Given the description of an element on the screen output the (x, y) to click on. 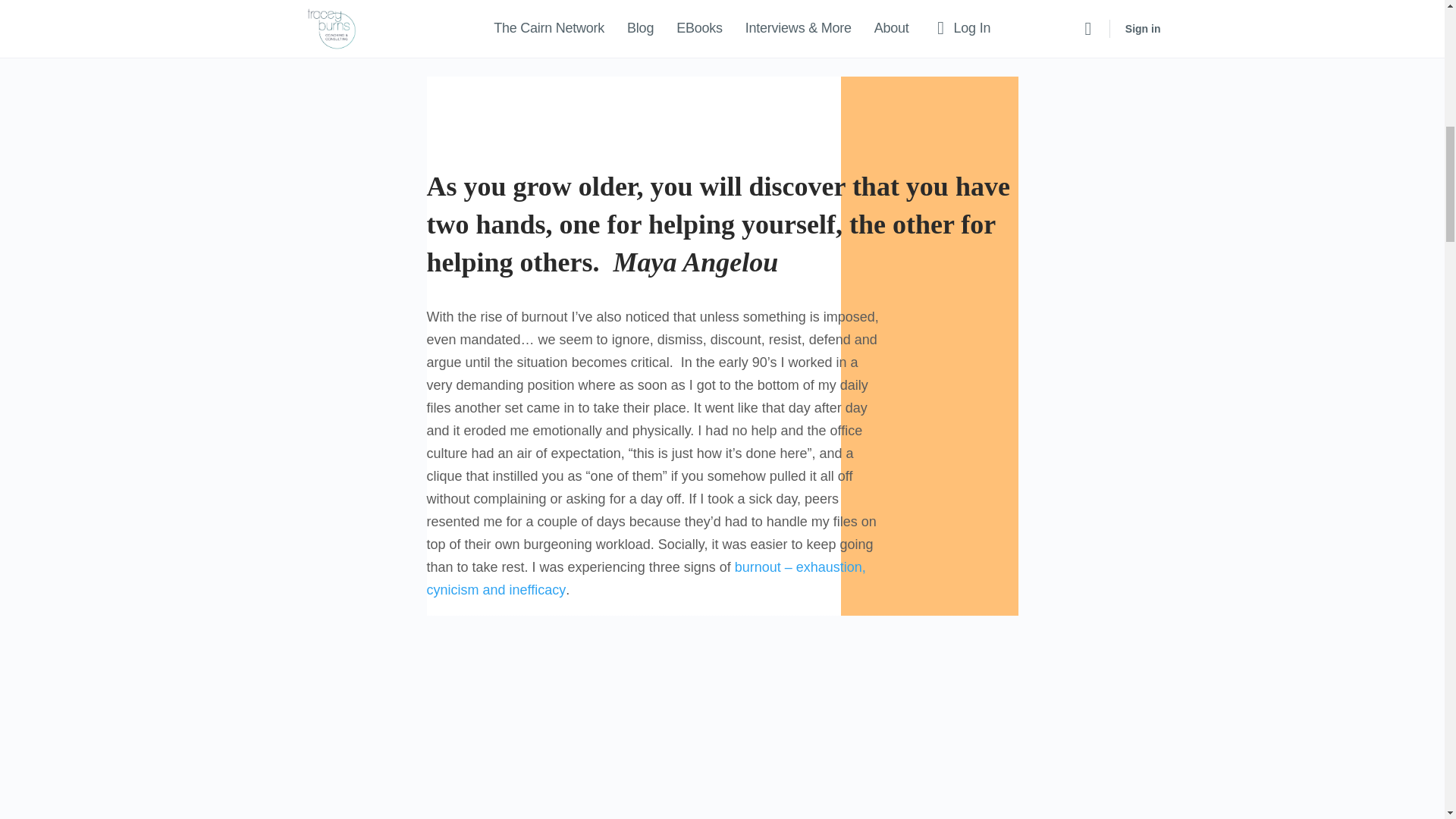
Burnout 2 (721, 735)
